Given the description of an element on the screen output the (x, y) to click on. 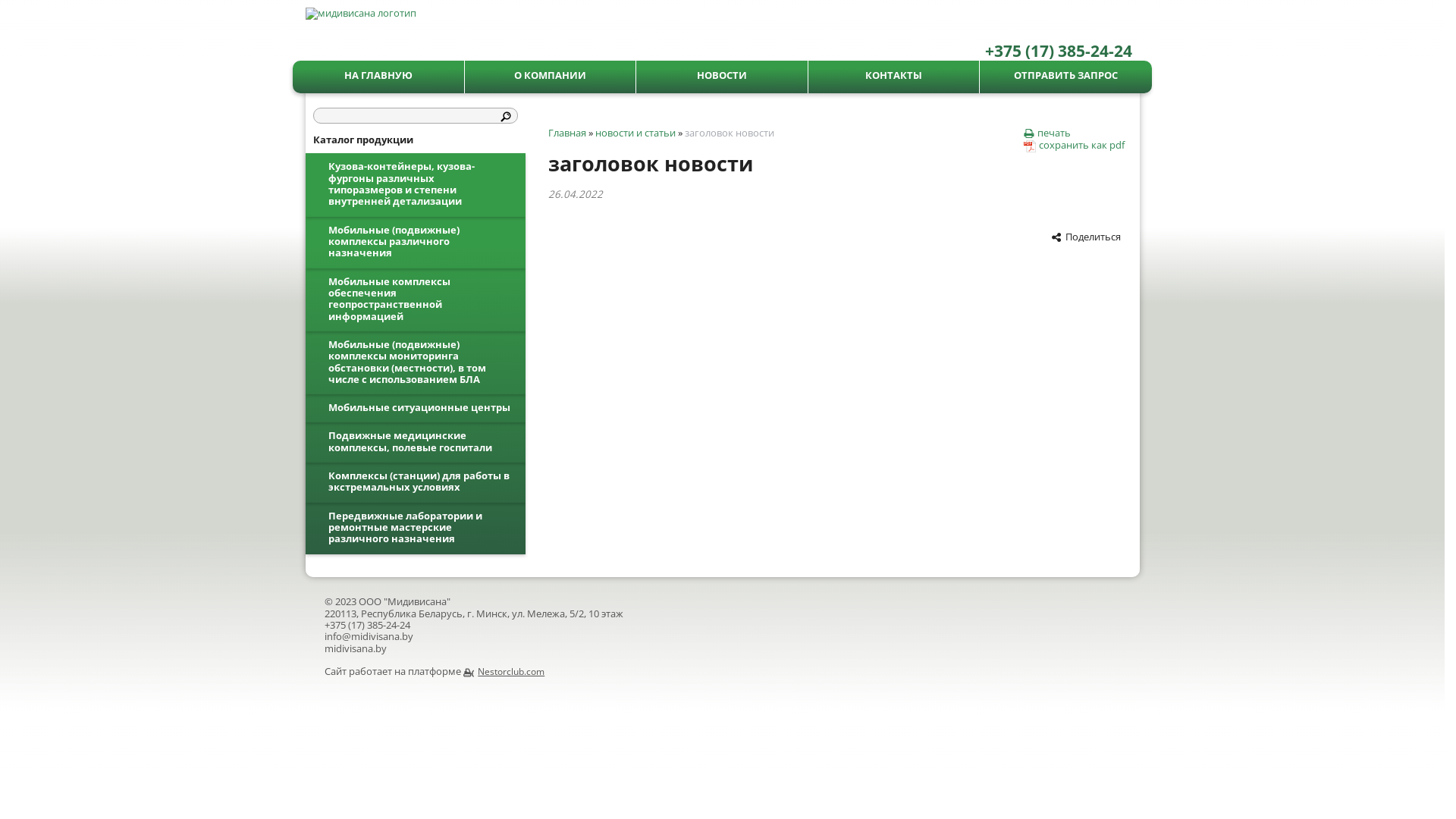
Nestorclub.com Element type: text (503, 671)
info@midivisana.by Element type: text (368, 636)
midivisana.by Element type: text (355, 648)
+375 (17) 385-24-24 Element type: text (367, 624)
